Given the description of an element on the screen output the (x, y) to click on. 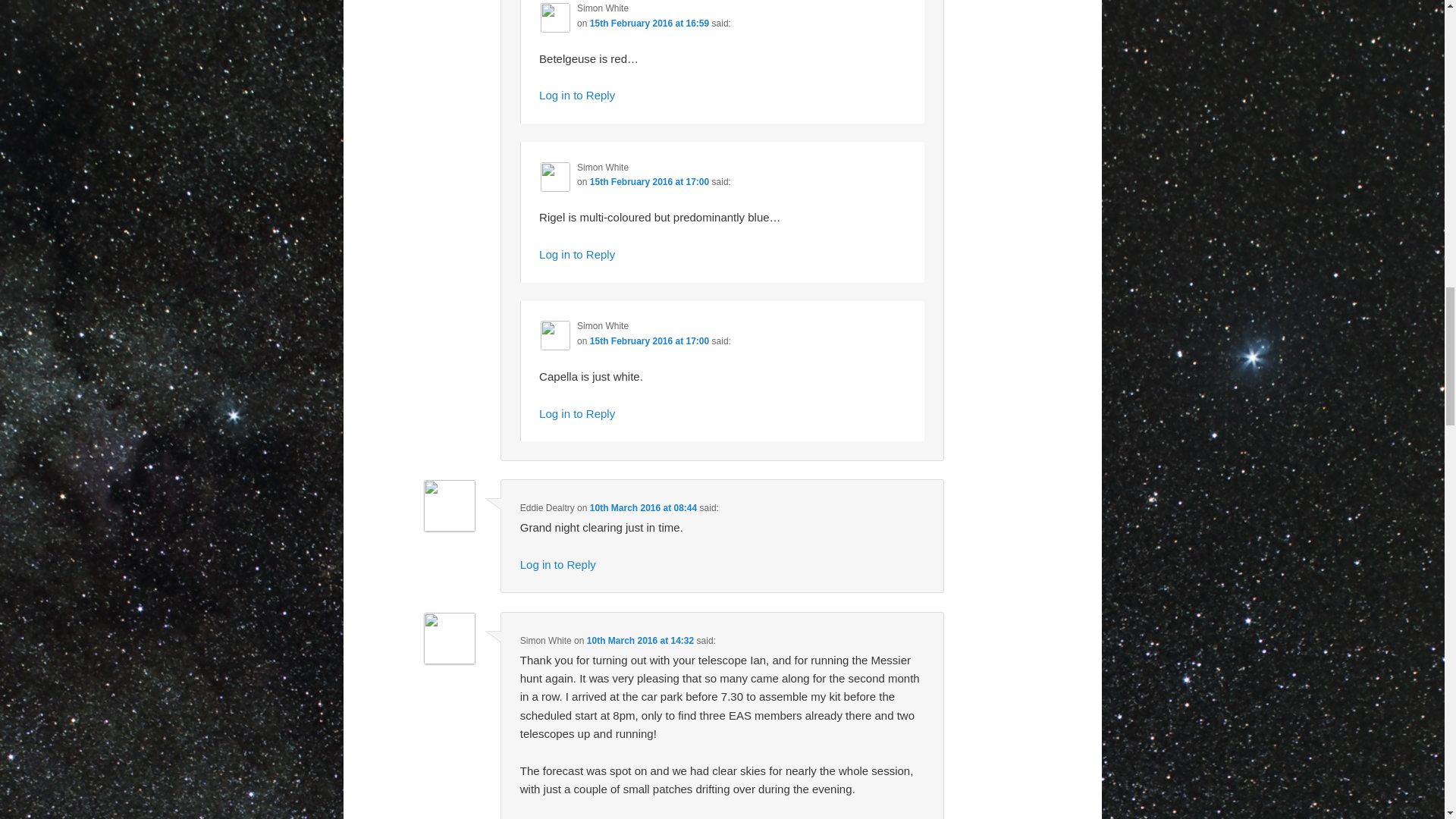
Log in to Reply (576, 94)
15th February 2016 at 16:59 (649, 23)
Log in to Reply (557, 563)
Log in to Reply (576, 413)
10th March 2016 at 14:32 (640, 640)
Log in to Reply (576, 254)
15th February 2016 at 17:00 (649, 181)
15th February 2016 at 17:00 (649, 340)
10th March 2016 at 08:44 (643, 507)
